Given the description of an element on the screen output the (x, y) to click on. 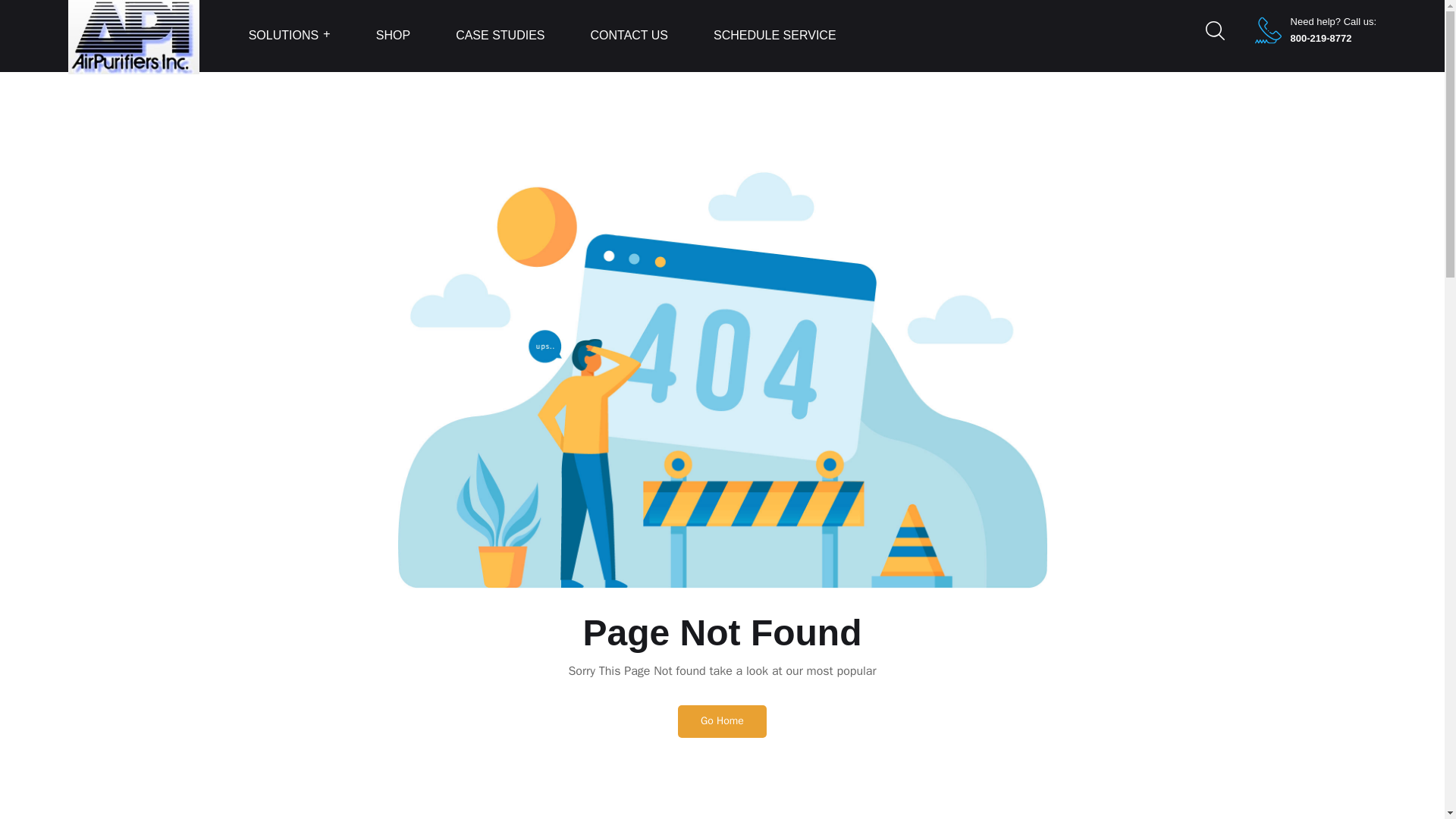
Go Home (722, 721)
SCHEDULE SERVICE (774, 35)
CASE STUDIES (499, 35)
SHOP (392, 35)
SOLUTIONS (289, 35)
CONTACT US (628, 35)
